Given the description of an element on the screen output the (x, y) to click on. 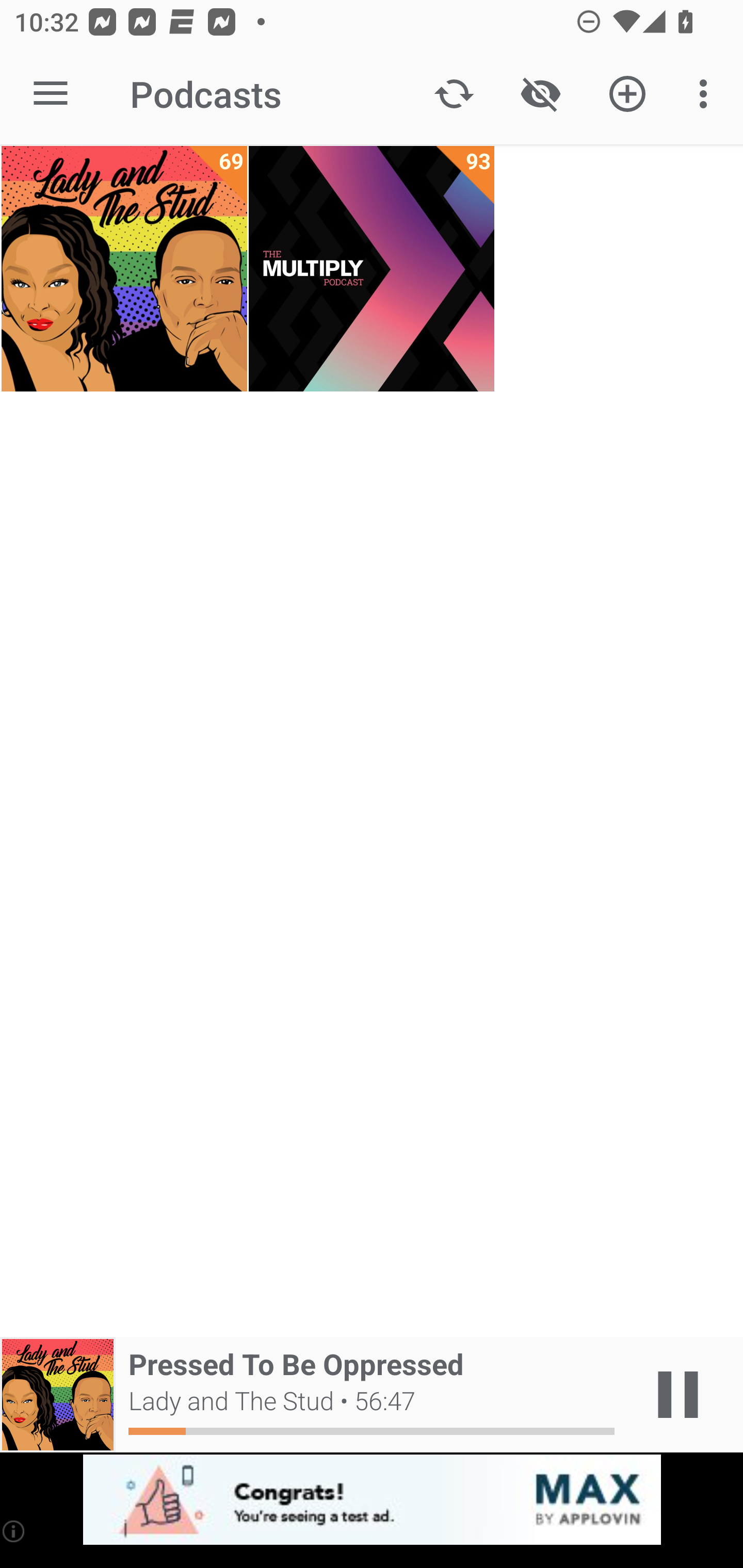
Open navigation sidebar (50, 93)
Update (453, 93)
Show / Hide played content (540, 93)
Add new Podcast (626, 93)
More options (706, 93)
Lady and The Stud 69 (124, 268)
The Multiply Podcast 93 (371, 268)
Play / Pause (677, 1394)
app-monetization (371, 1500)
(i) (14, 1531)
